Given the description of an element on the screen output the (x, y) to click on. 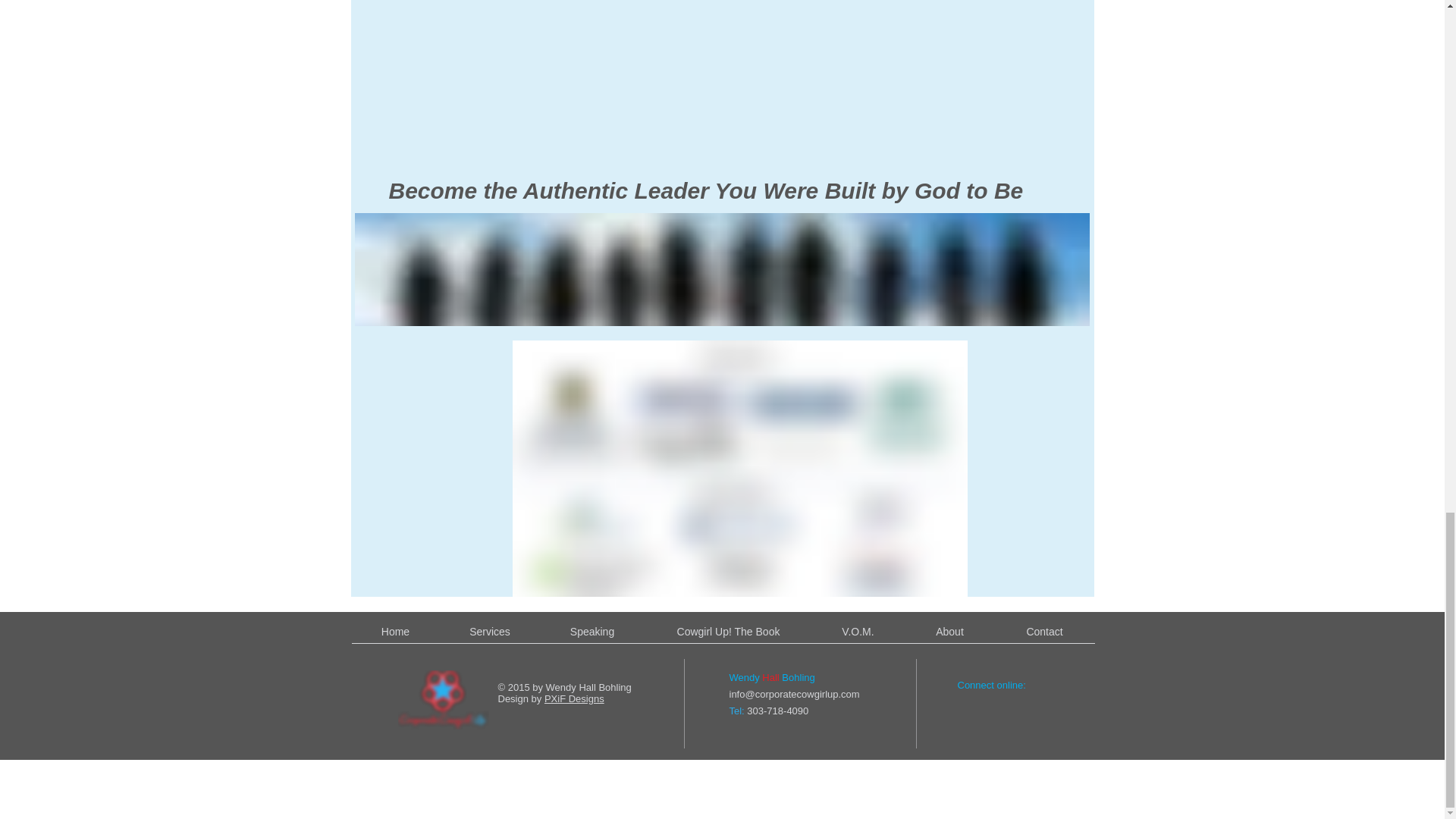
Cowgirl Up! The Book (727, 631)
CorporateCowgirlUp-01.png (442, 699)
V.O.M. (857, 631)
Speaking (592, 631)
PXiF Designs (574, 698)
Services (488, 631)
Home (394, 631)
